Given the description of an element on the screen output the (x, y) to click on. 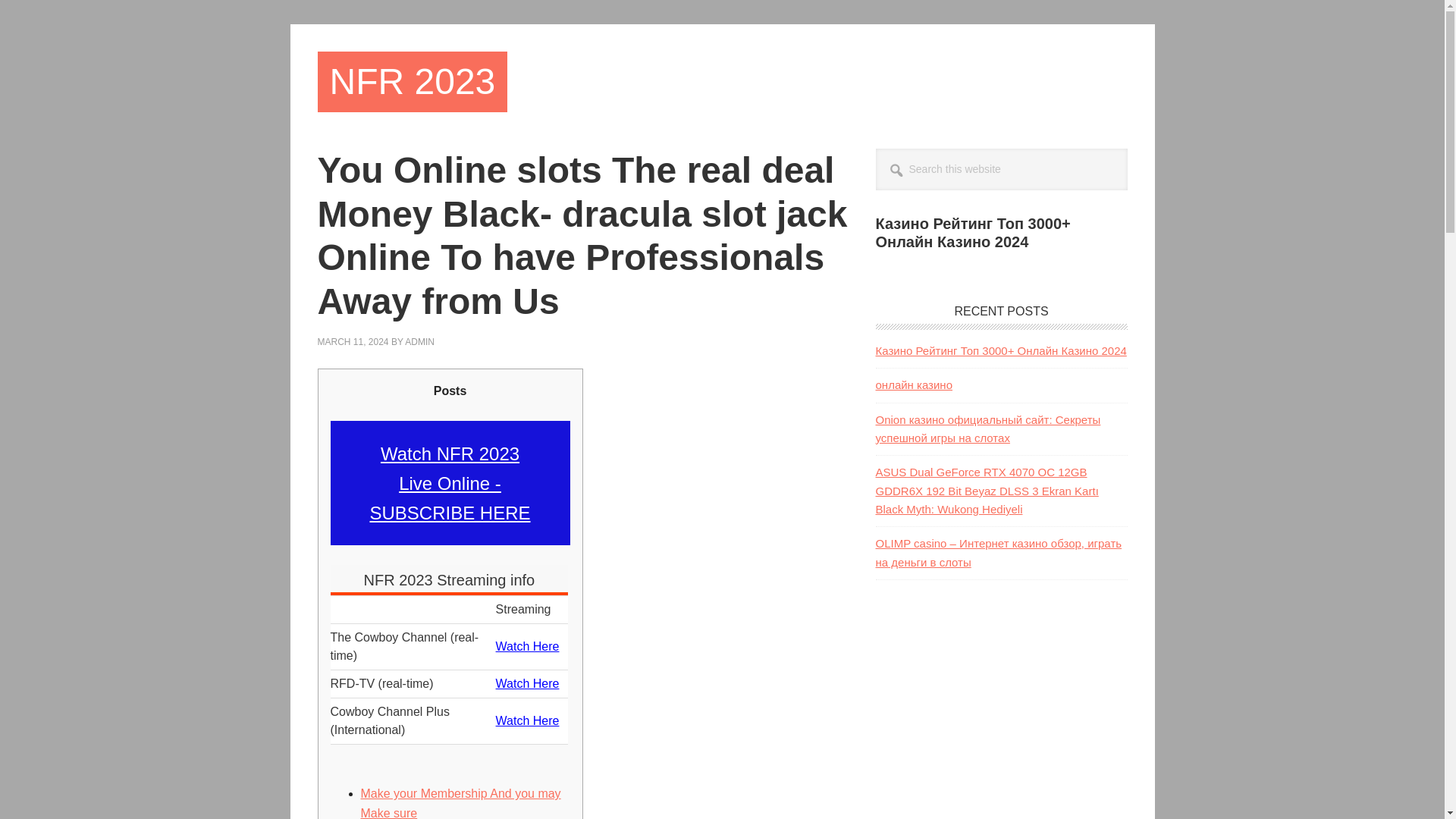
Watch Here (527, 720)
Make your Membership And you may Make sure (460, 803)
Watch Here (527, 683)
ADMIN (418, 341)
Watch NFR 2023 Live Online - SUBSCRIBE HERE (449, 483)
Watch Here (527, 645)
NFR 2023 (411, 81)
